Given the description of an element on the screen output the (x, y) to click on. 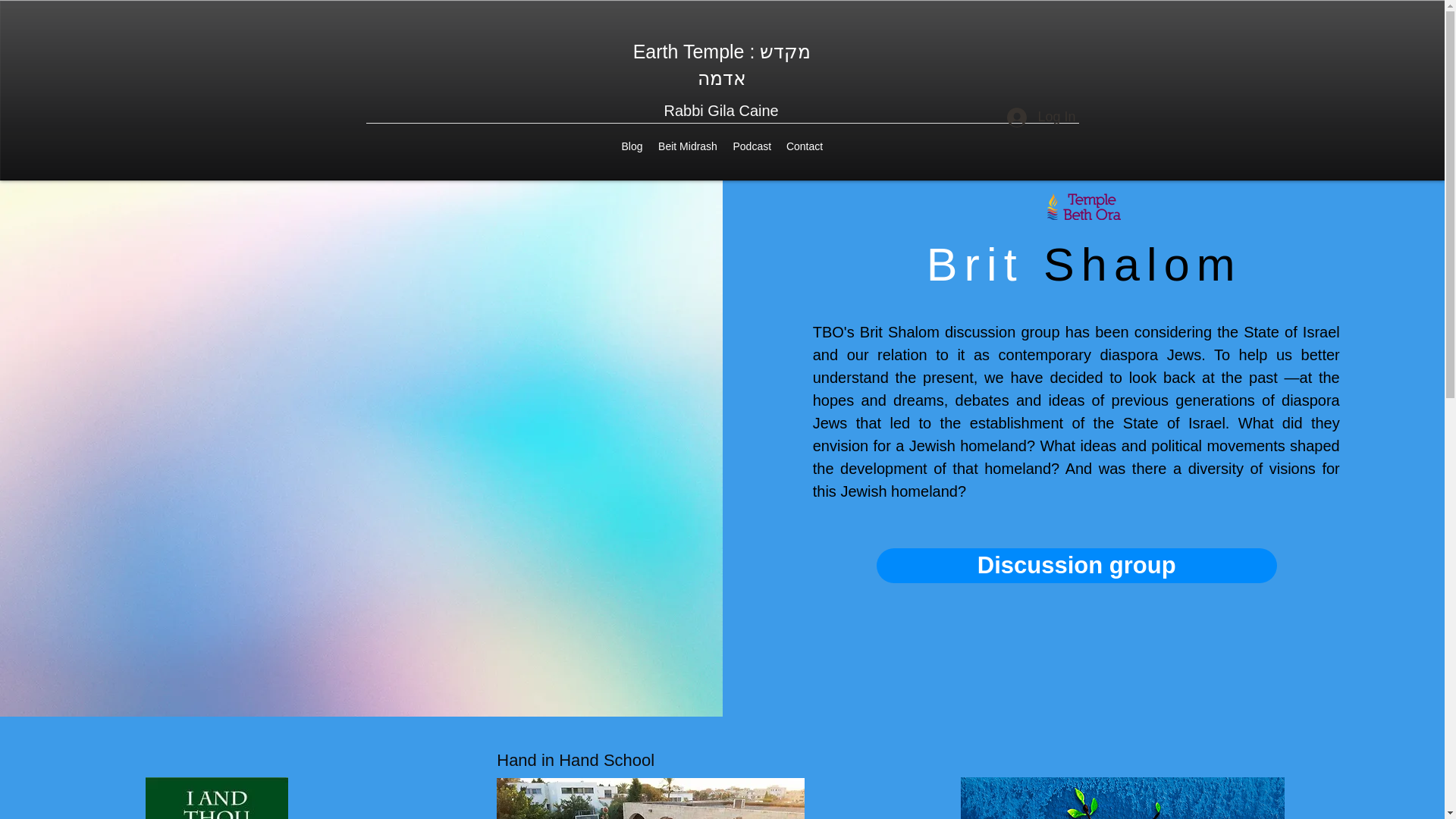
Contact (803, 146)
Beit Midrash (687, 146)
Discussion group (1076, 564)
Log In (1040, 117)
Podcast (751, 146)
Blog (632, 146)
